Given the description of an element on the screen output the (x, y) to click on. 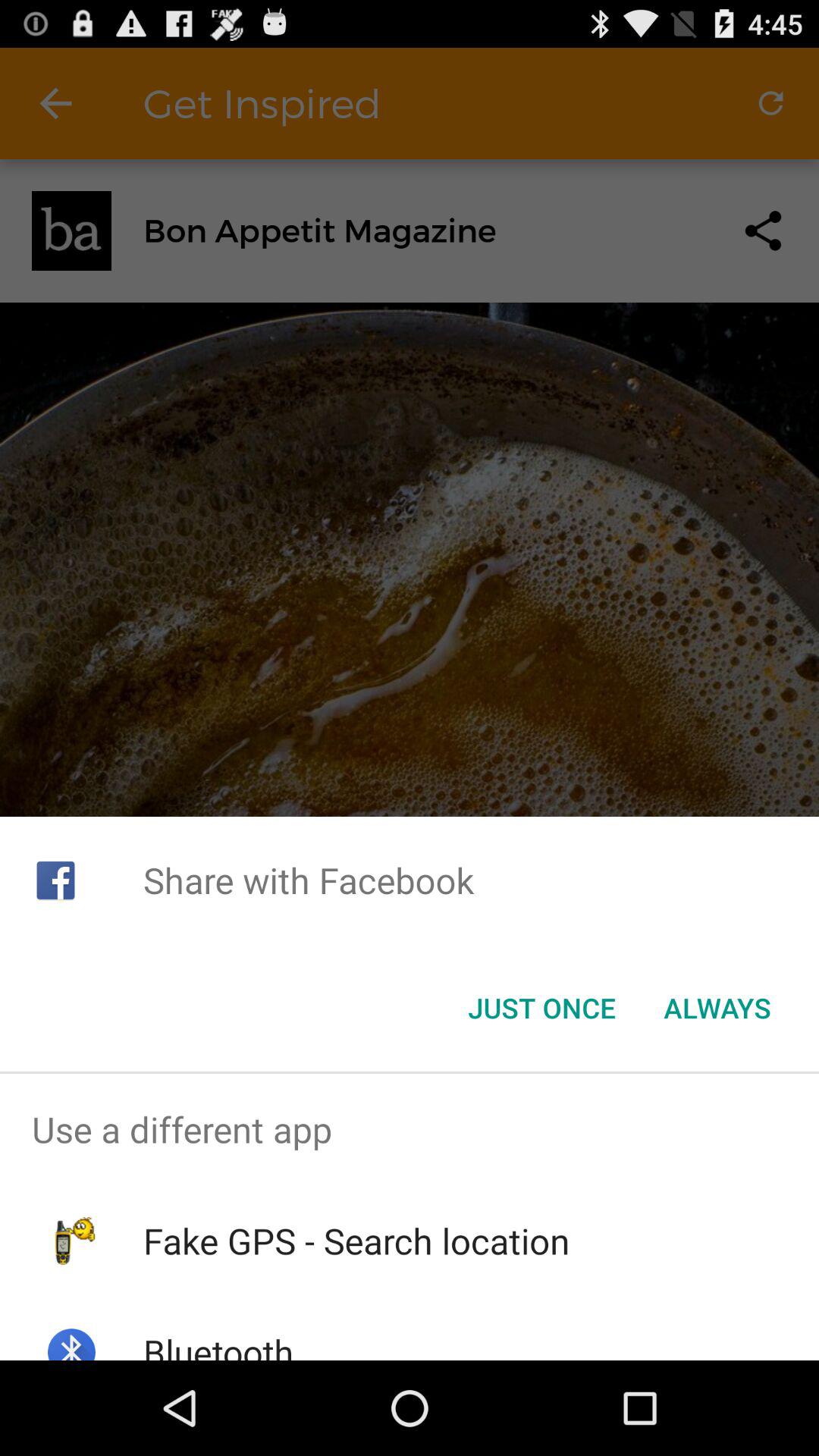
open the icon below the share with facebook app (541, 1007)
